Given the description of an element on the screen output the (x, y) to click on. 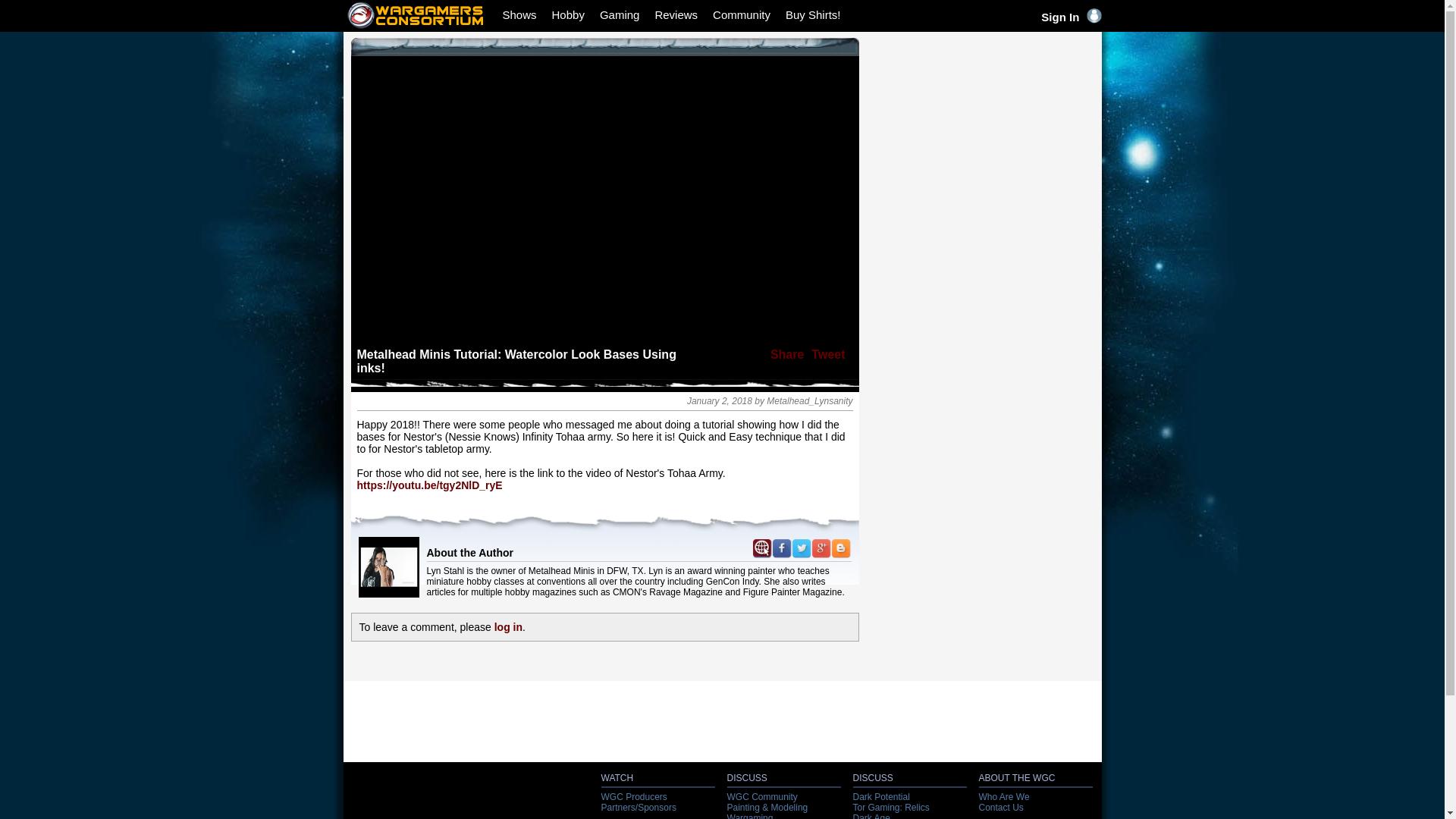
Advertisement (979, 132)
Visit Google Plus (820, 548)
Visit Google Plus (820, 552)
Reviews (675, 14)
Visit Website (761, 548)
Visit Blog (840, 552)
Shows (518, 14)
Hobby (568, 14)
Tweet (827, 354)
Visit Facebook (781, 548)
